Given the description of an element on the screen output the (x, y) to click on. 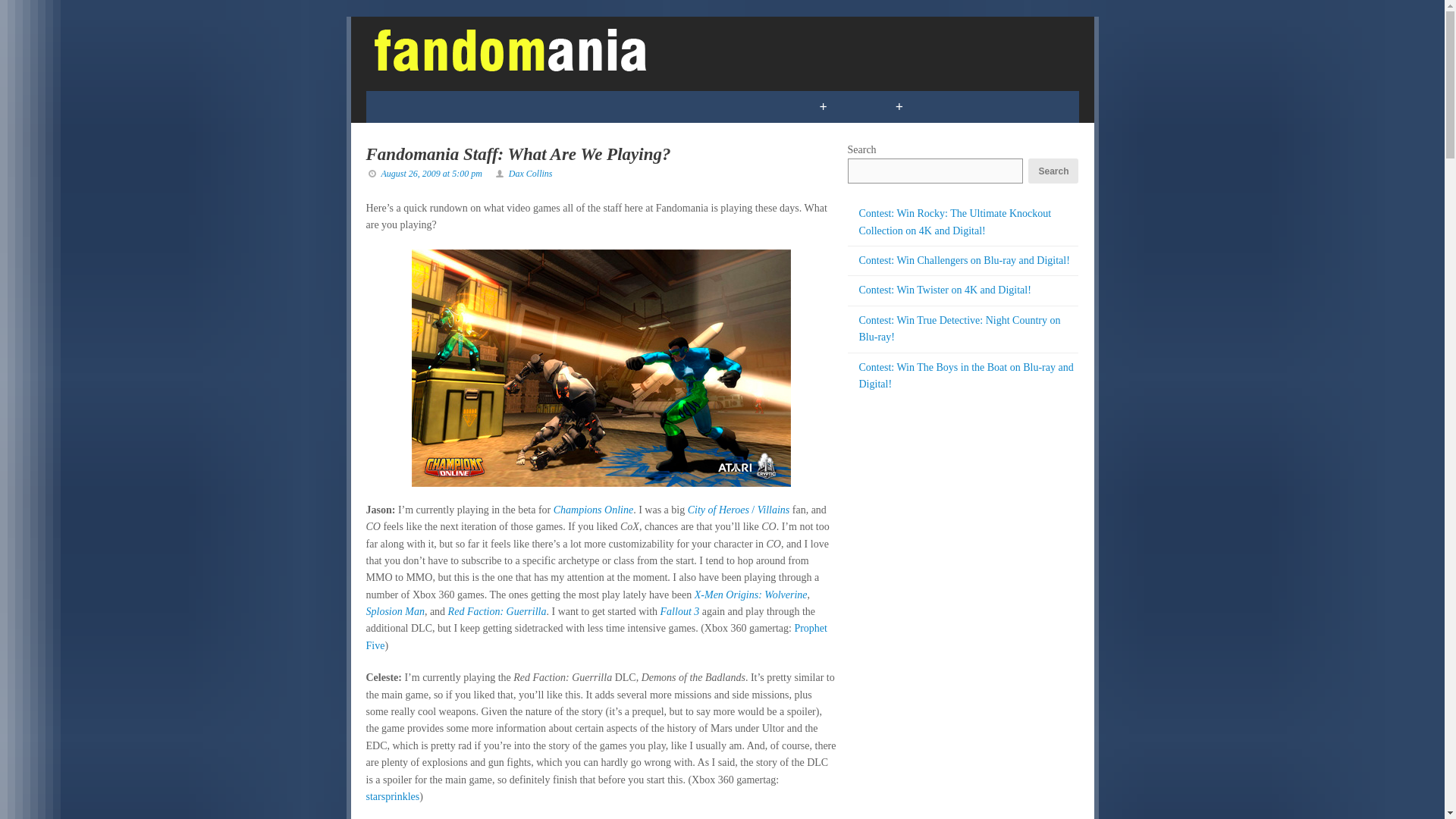
Prophet Five (596, 636)
TV (539, 106)
Splosion Man (394, 611)
Music (676, 106)
Contests (757, 106)
Dax Collins (530, 173)
Games (478, 106)
Champions Online (593, 509)
Fallout 3 (680, 611)
Posts by Dax Collins (530, 173)
August 26, 2009 at 5:00 pm (430, 173)
Red Faction: Guerrilla (497, 611)
starsprinkles (392, 796)
About (1015, 106)
Movies (602, 106)
